Given the description of an element on the screen output the (x, y) to click on. 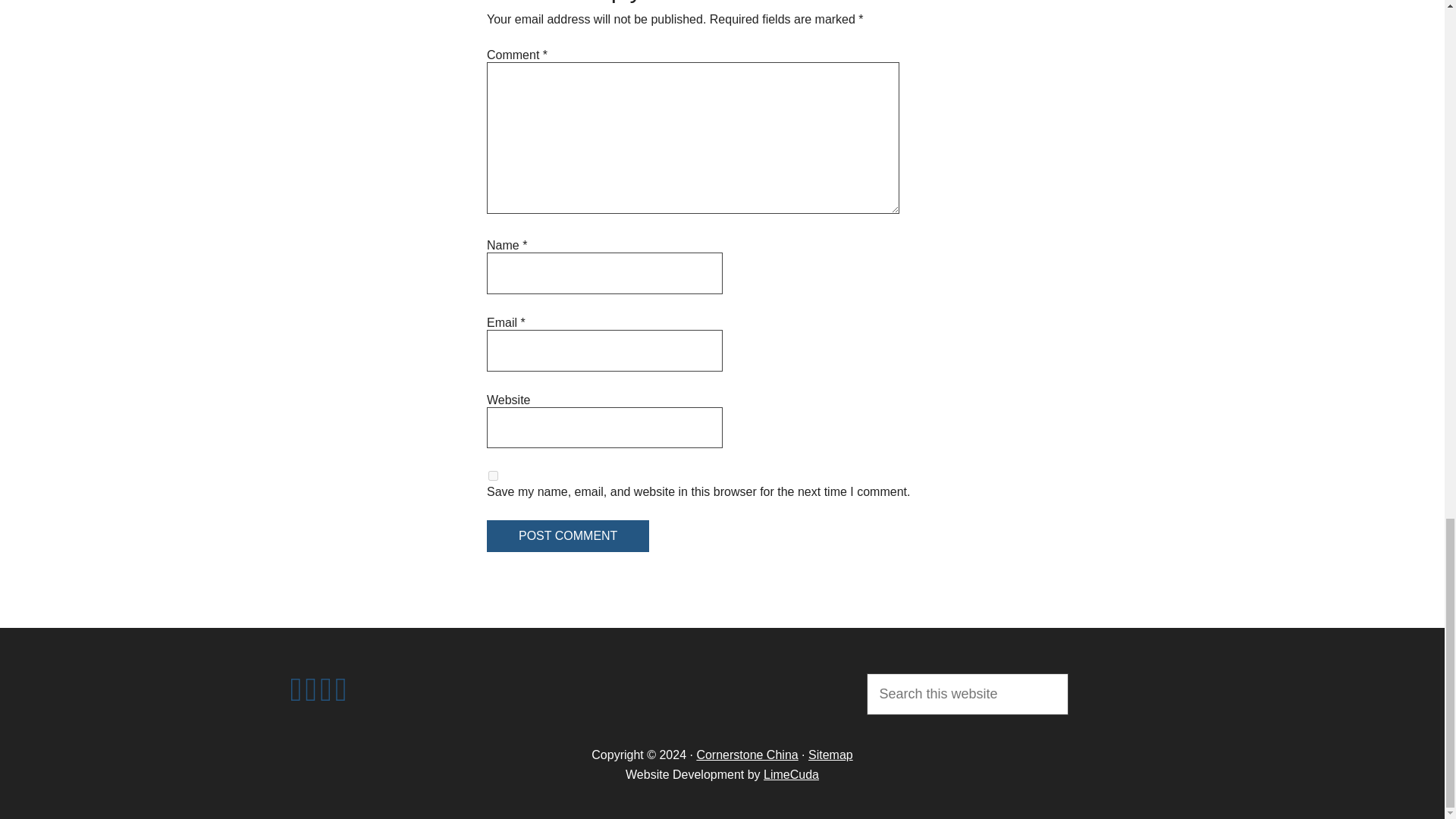
Follow Cornerstone on WeChat (310, 696)
yes (492, 475)
Post Comment (567, 536)
Post Comment (567, 536)
Follow Cornerstone on Twitter (340, 696)
Follow Cornerstone on LinkedIn (295, 696)
Follow Cornerstone on Facebook (325, 696)
Strategic Website Development (790, 774)
